Given the description of an element on the screen output the (x, y) to click on. 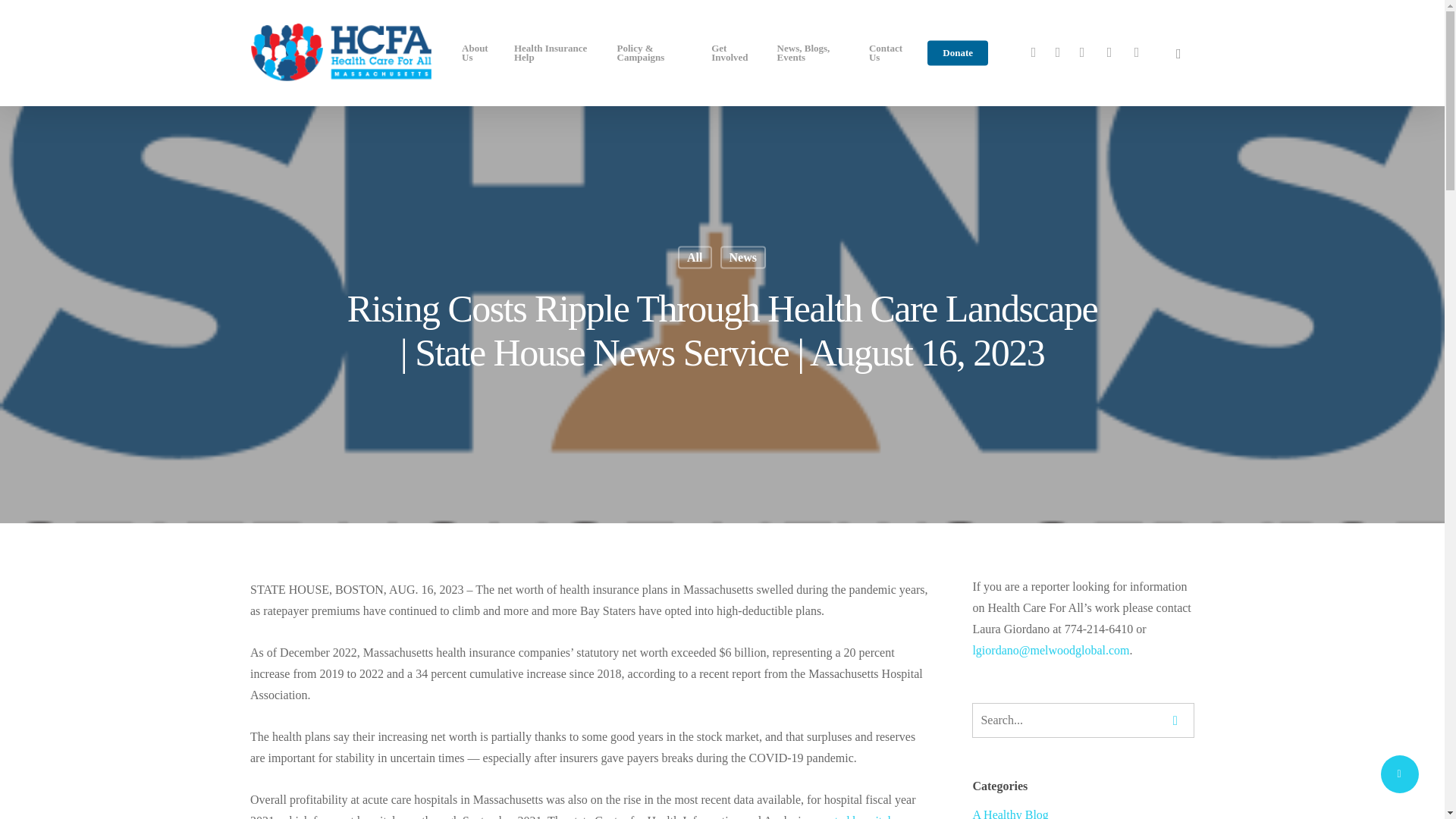
News, Blogs, Events (814, 53)
Get Involved (734, 53)
Search for: (1082, 719)
Contact Us (889, 53)
All (694, 256)
About Us (478, 53)
Donate (957, 52)
Health Insurance Help (556, 53)
